Given the description of an element on the screen output the (x, y) to click on. 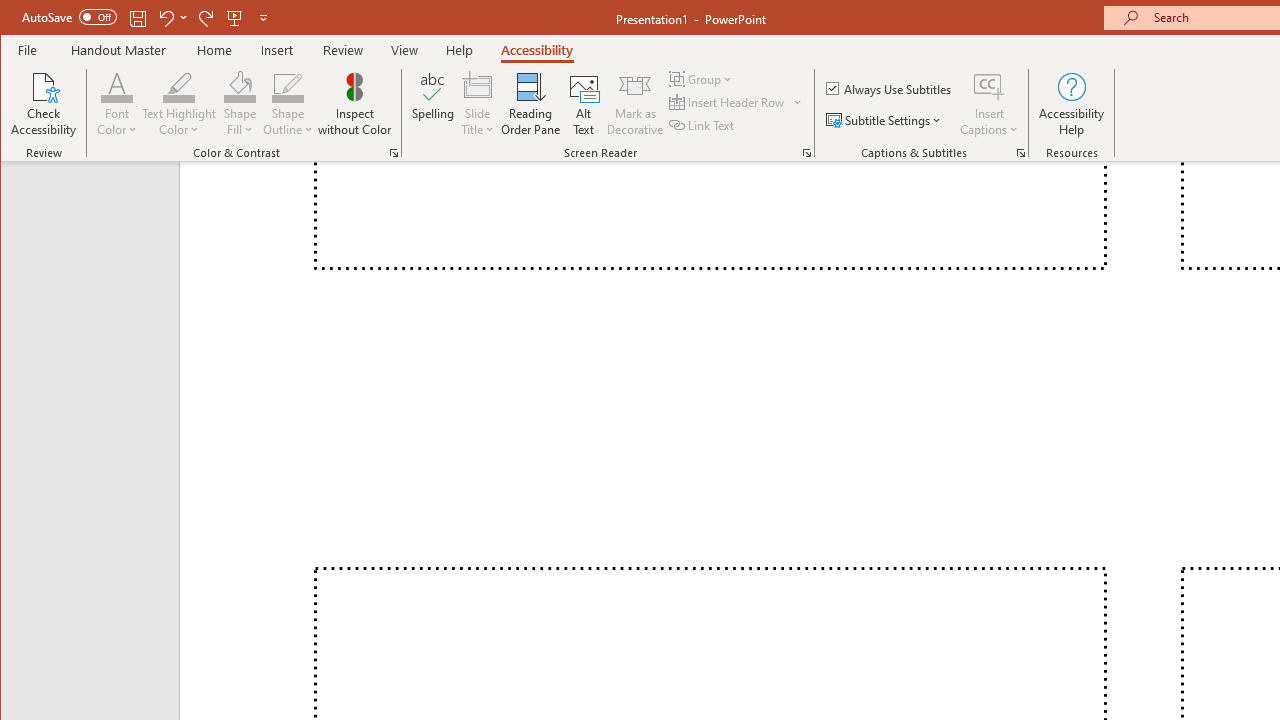
View (404, 50)
Link Text (703, 124)
Font Color (116, 86)
Accessibility Help (1071, 104)
Spelling... (432, 104)
More Options (989, 123)
Accessibility (536, 50)
System (18, 18)
Shape Outline Blue, Accent 1 (288, 86)
Slide Title (477, 104)
Color & Contrast (393, 152)
Customize Quick Access Toolbar (263, 17)
Review (342, 50)
Slide Title (477, 86)
Subtitle Settings (885, 119)
